Given the description of an element on the screen output the (x, y) to click on. 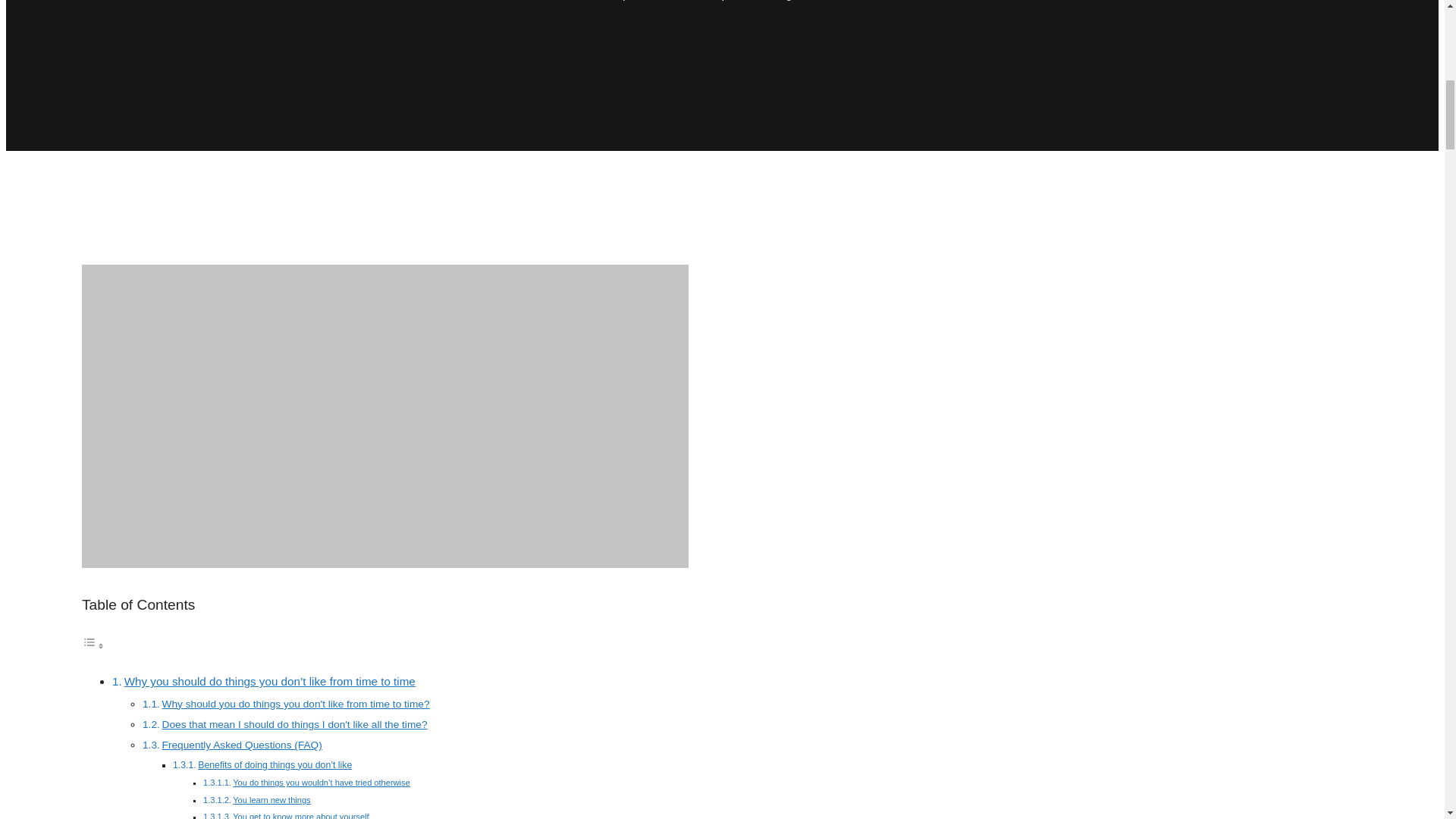
You get to know more about yourself (300, 815)
Does that mean I should do things I don't like all the time? (294, 724)
Does that mean I should do things I don't like all the time? (294, 724)
Why should you do things you don't like from time to time? (295, 704)
You learn new things (271, 799)
Why should you do things you don't like from time to time? (295, 704)
You learn new things (271, 799)
You get to know more about yourself (300, 815)
